Given the description of an element on the screen output the (x, y) to click on. 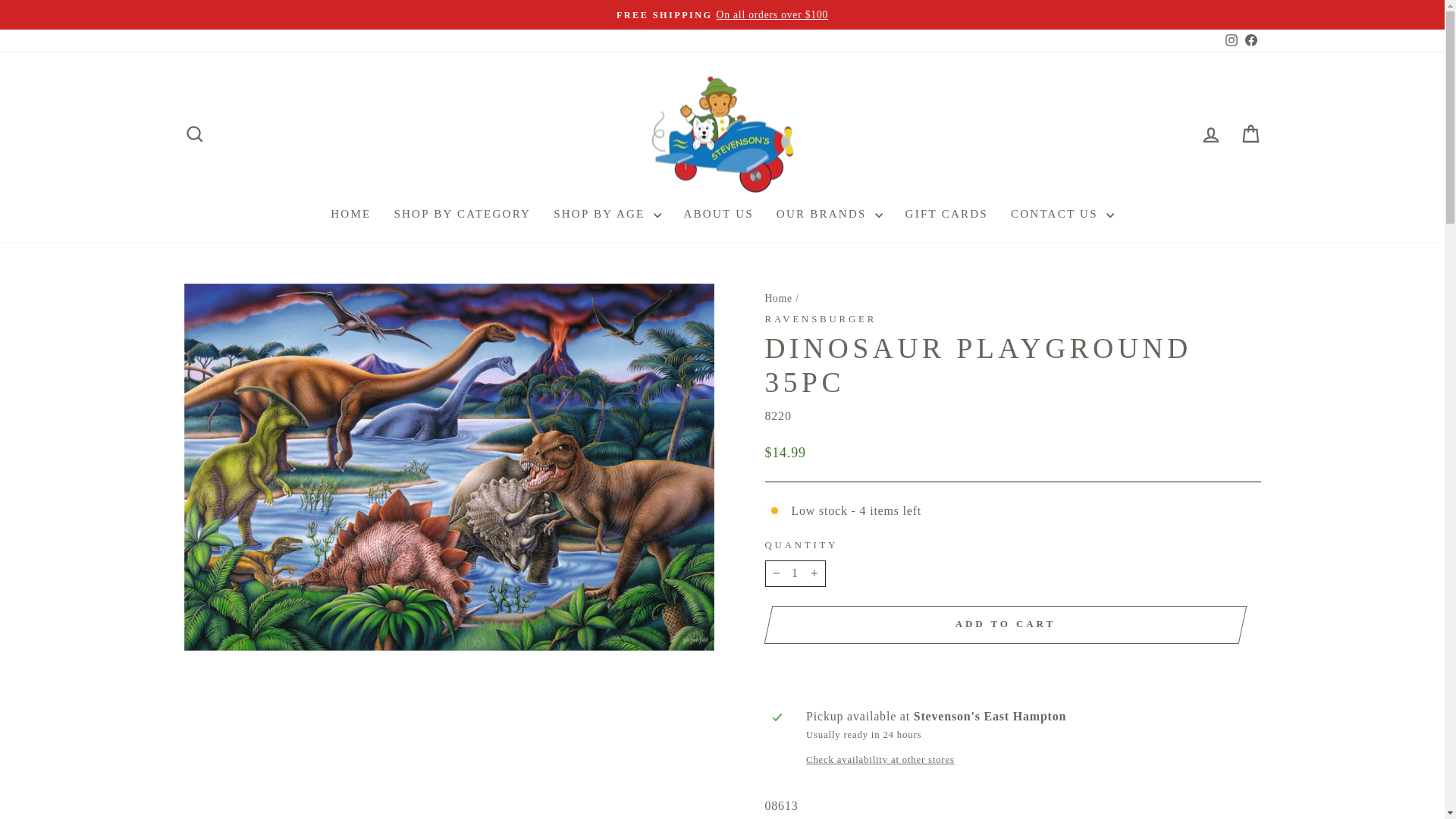
instagram (194, 133)
Back to the frontpage (1231, 39)
Ravensburger (778, 297)
ICON-SEARCH (820, 318)
Facebook (194, 133)
ACCOUNT (1230, 40)
1 (1250, 40)
